Given the description of an element on the screen output the (x, y) to click on. 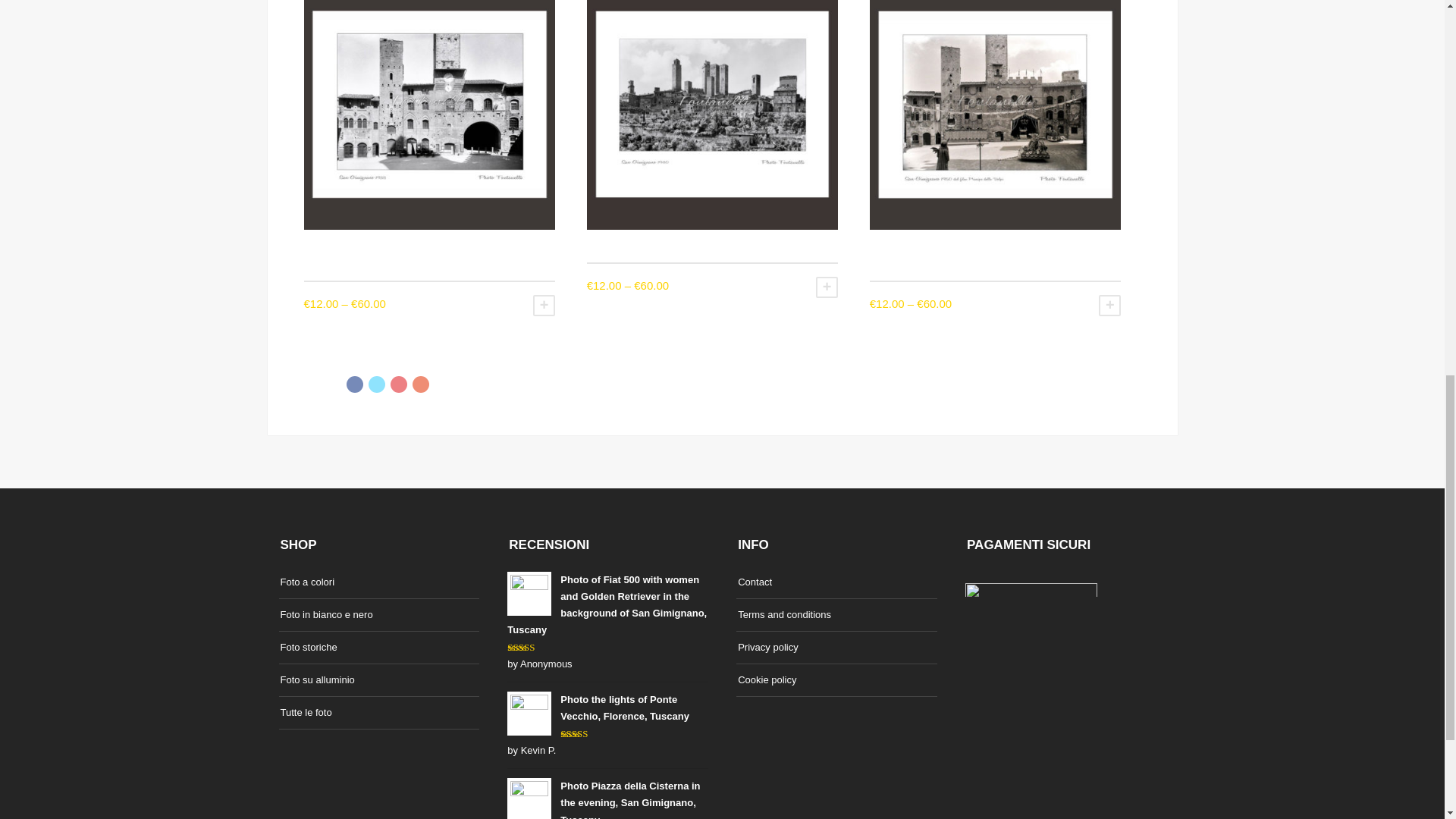
Foto in bianco e nero (326, 614)
Facebook (354, 384)
SELECT OPTIONS (543, 305)
SELECT OPTIONS (826, 287)
Twitter (376, 384)
Foto storiche (309, 647)
Foto a colori (307, 581)
SELECT OPTIONS (1110, 305)
